Given the description of an element on the screen output the (x, y) to click on. 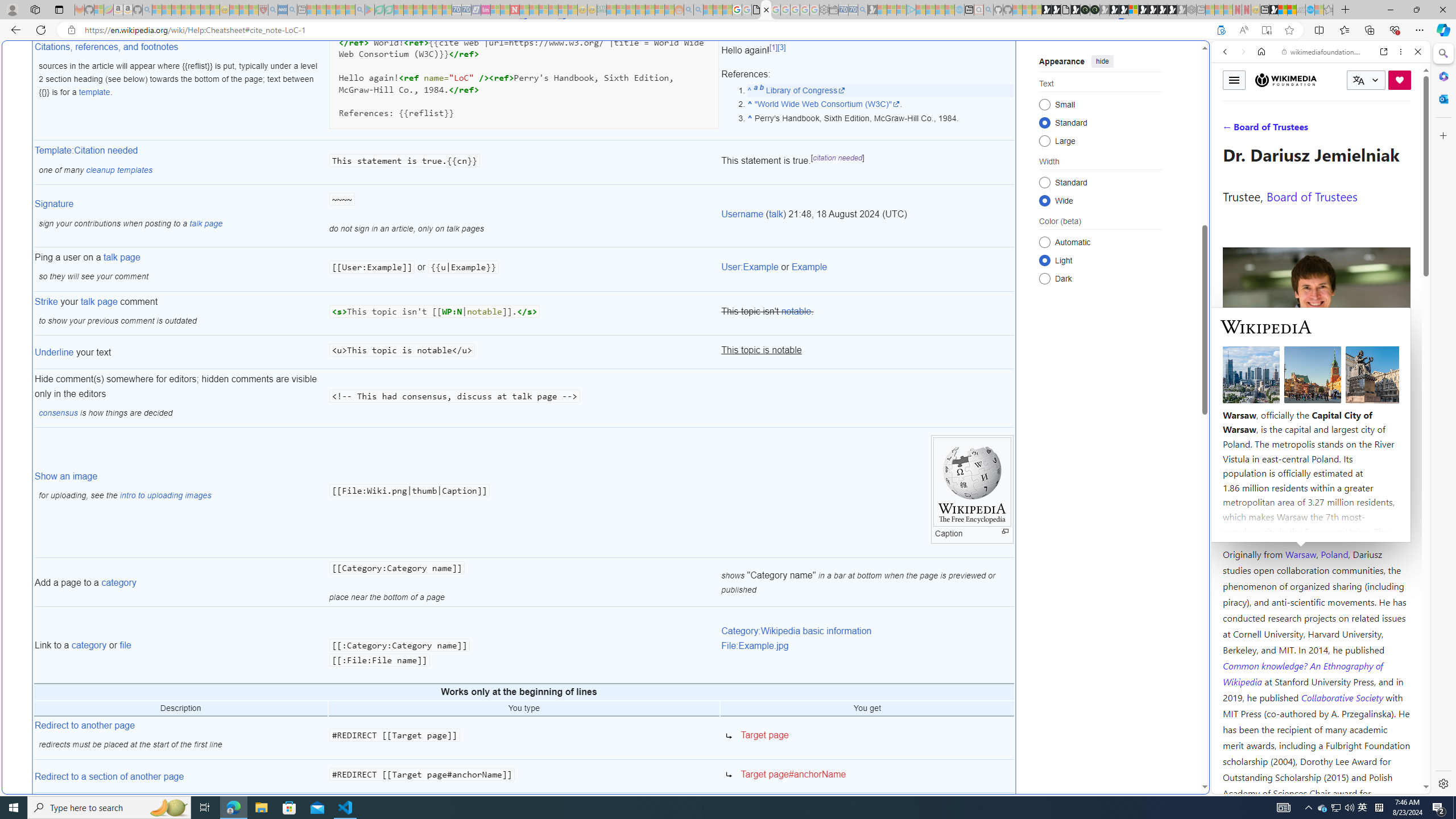
[1] (772, 47)
Poland (1334, 554)
